Given the description of an element on the screen output the (x, y) to click on. 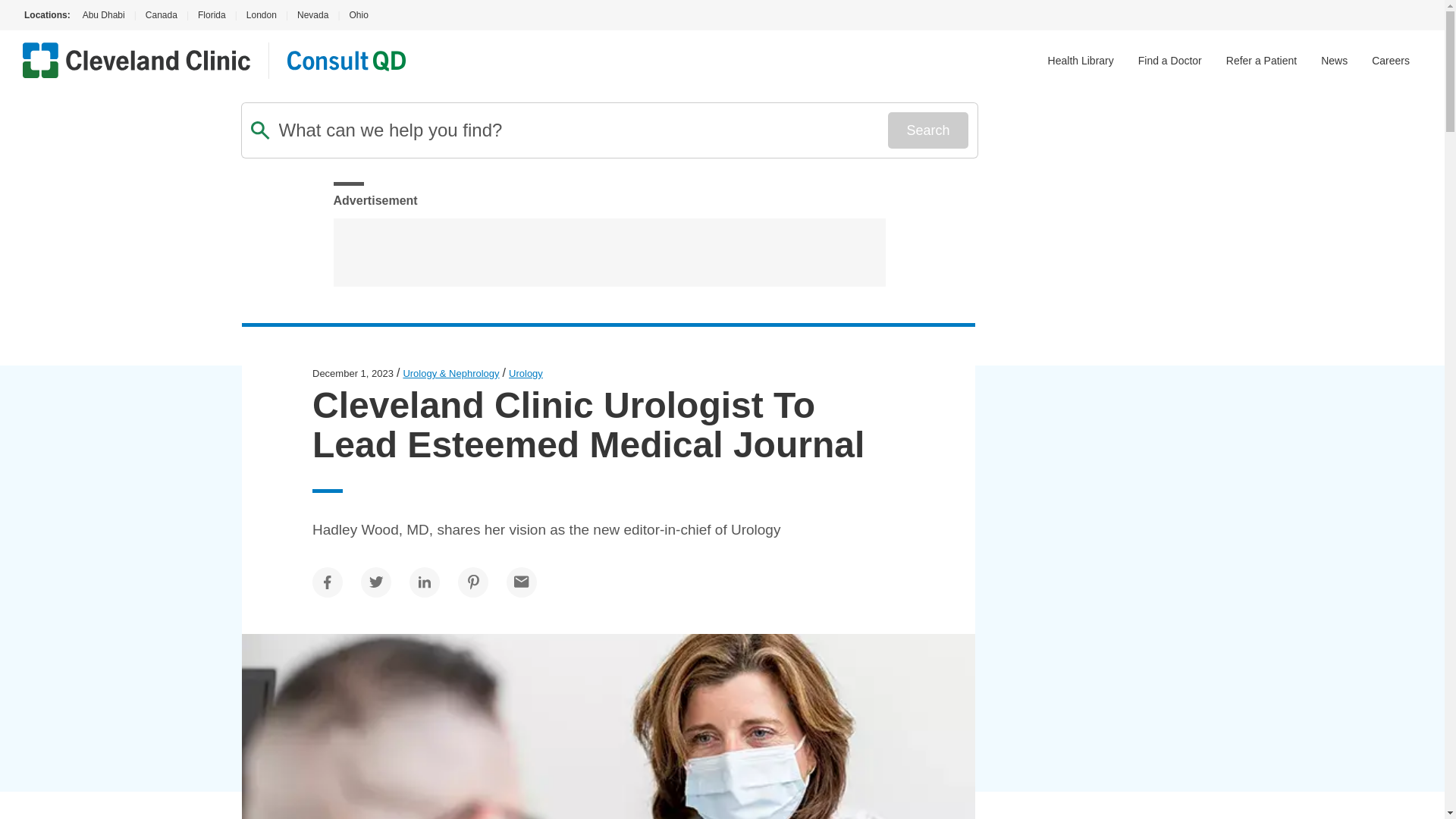
London (261, 15)
News (1334, 60)
Health Library (1080, 60)
Refer a Patient (1261, 60)
Urology (525, 373)
Florida (211, 15)
Nevada (312, 15)
Careers (1390, 60)
Canada (161, 15)
Find a Doctor (1170, 60)
